Given the description of an element on the screen output the (x, y) to click on. 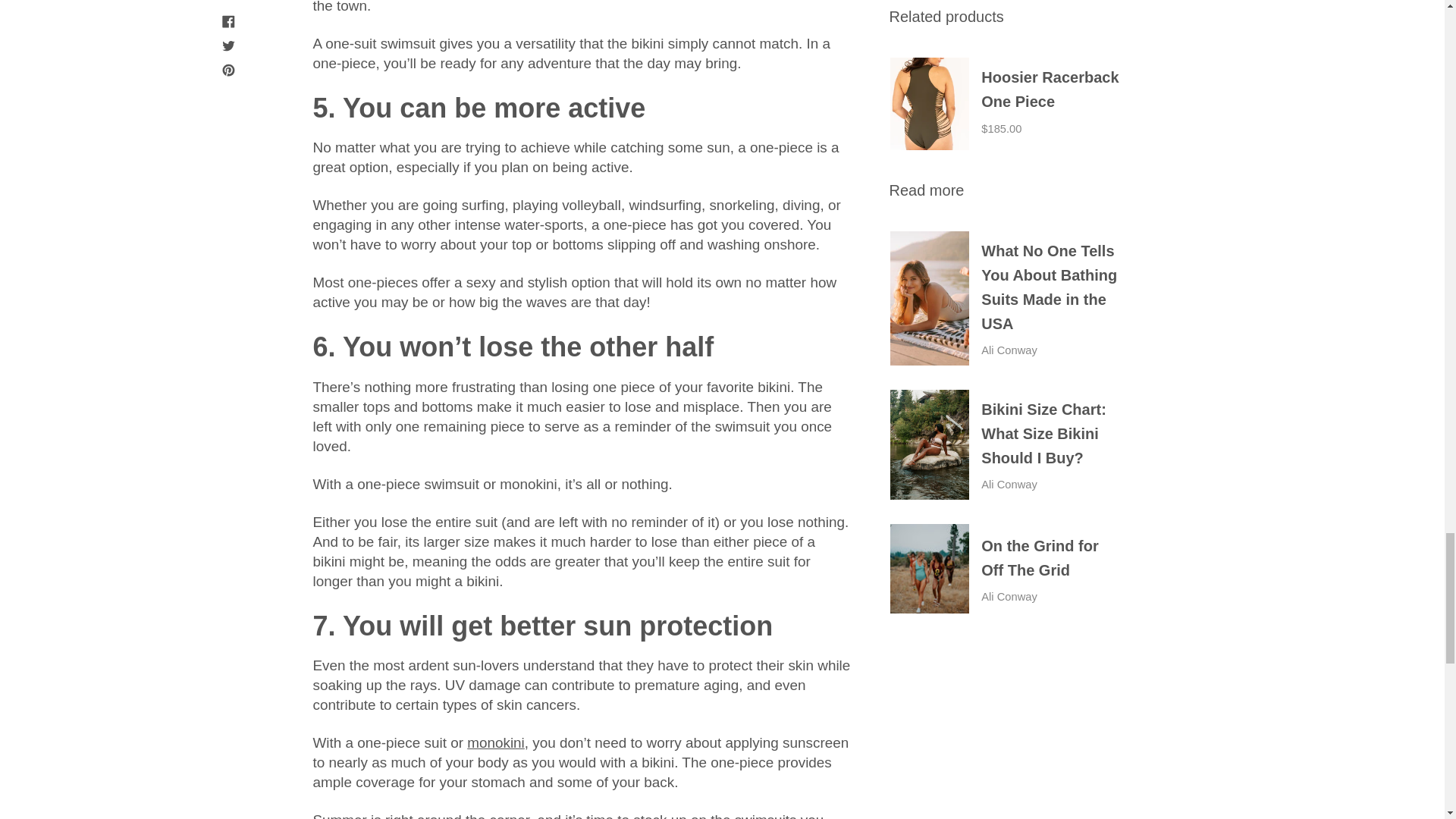
monokini (495, 742)
